Given the description of an element on the screen output the (x, y) to click on. 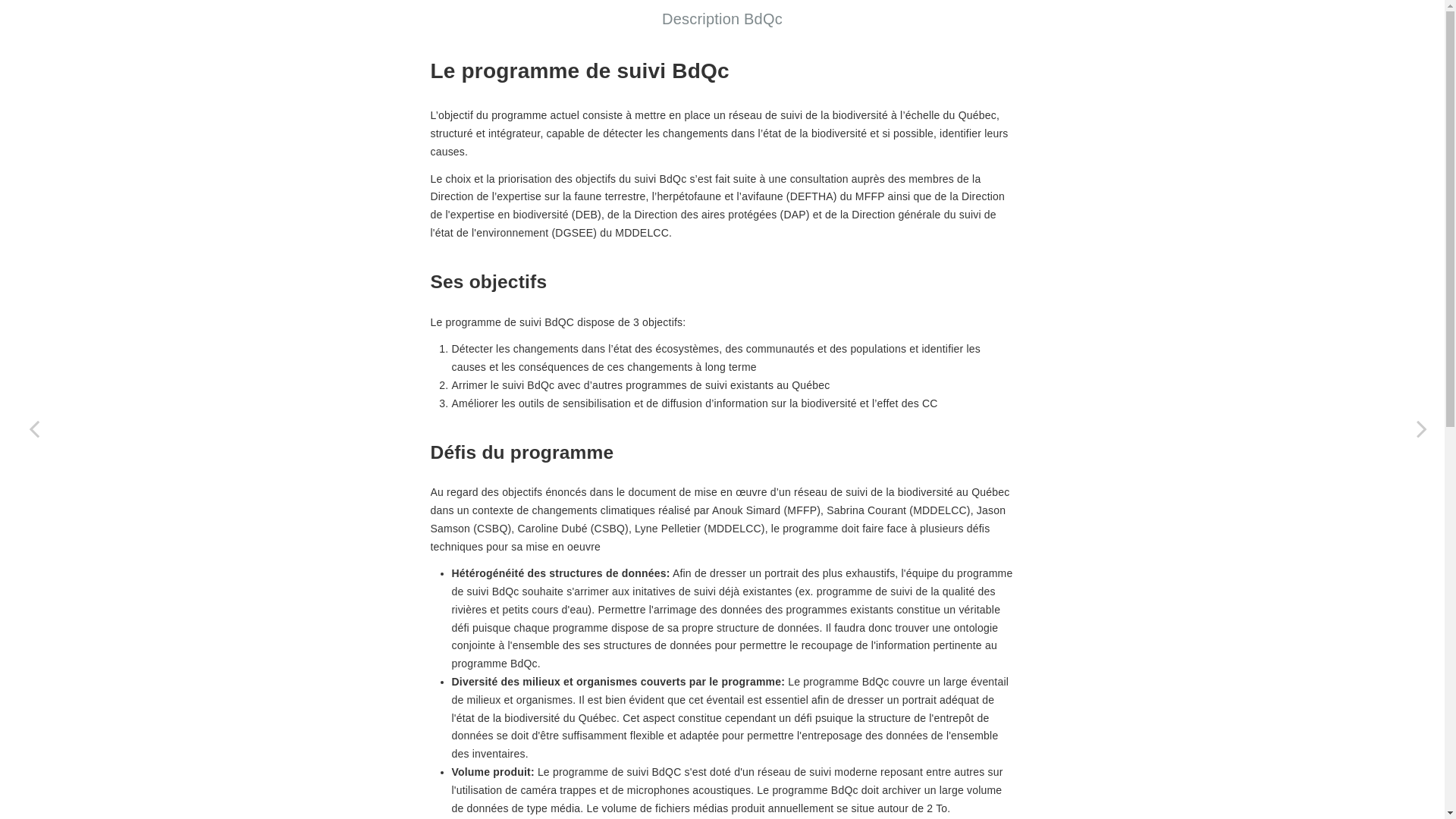
Description BdQc Element type: text (722, 18)
